Given the description of an element on the screen output the (x, y) to click on. 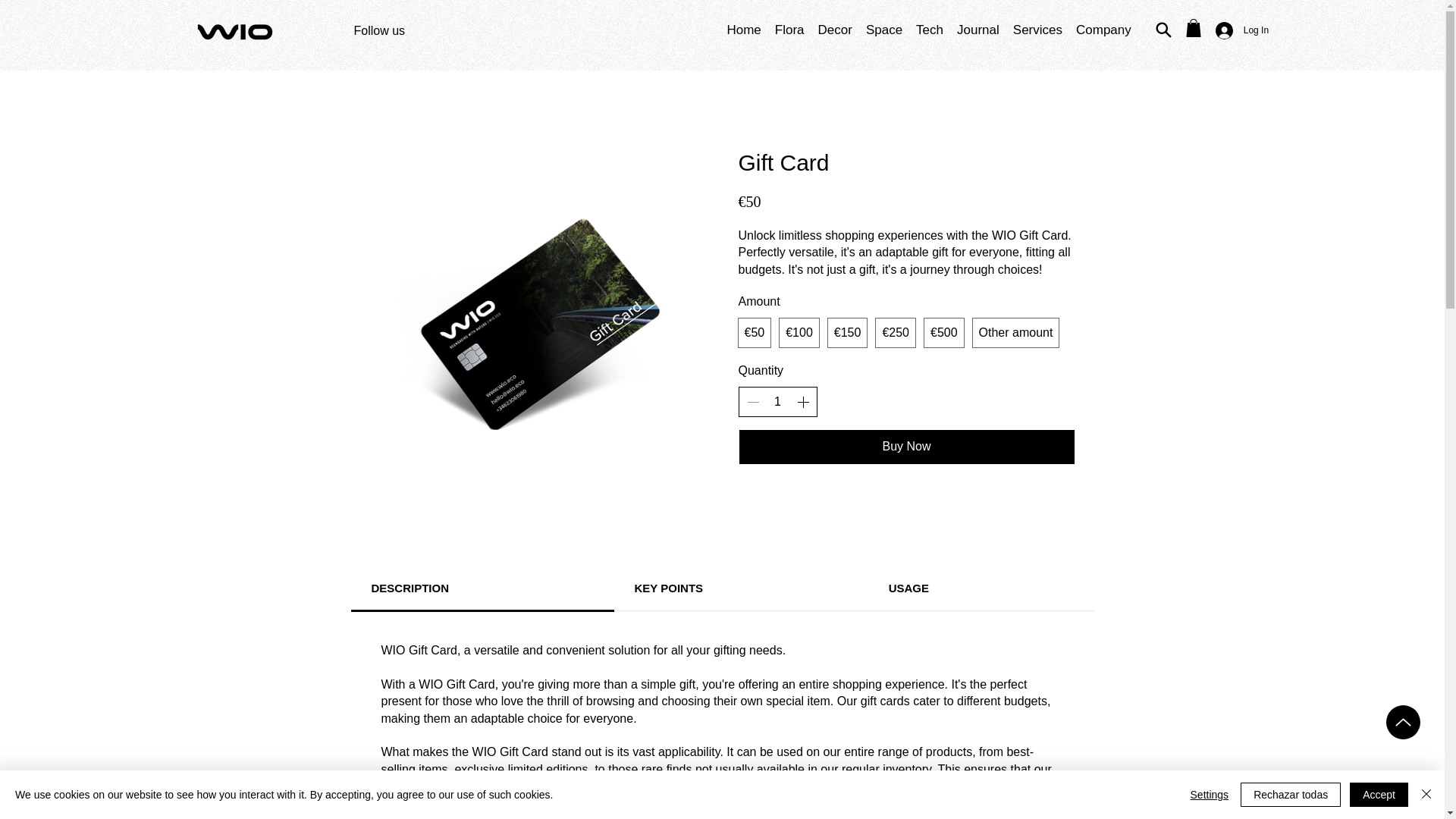
Follow us (379, 30)
1 (777, 401)
Home (743, 29)
Decor (834, 29)
logo wio (234, 31)
Flora (789, 29)
